Given the description of an element on the screen output the (x, y) to click on. 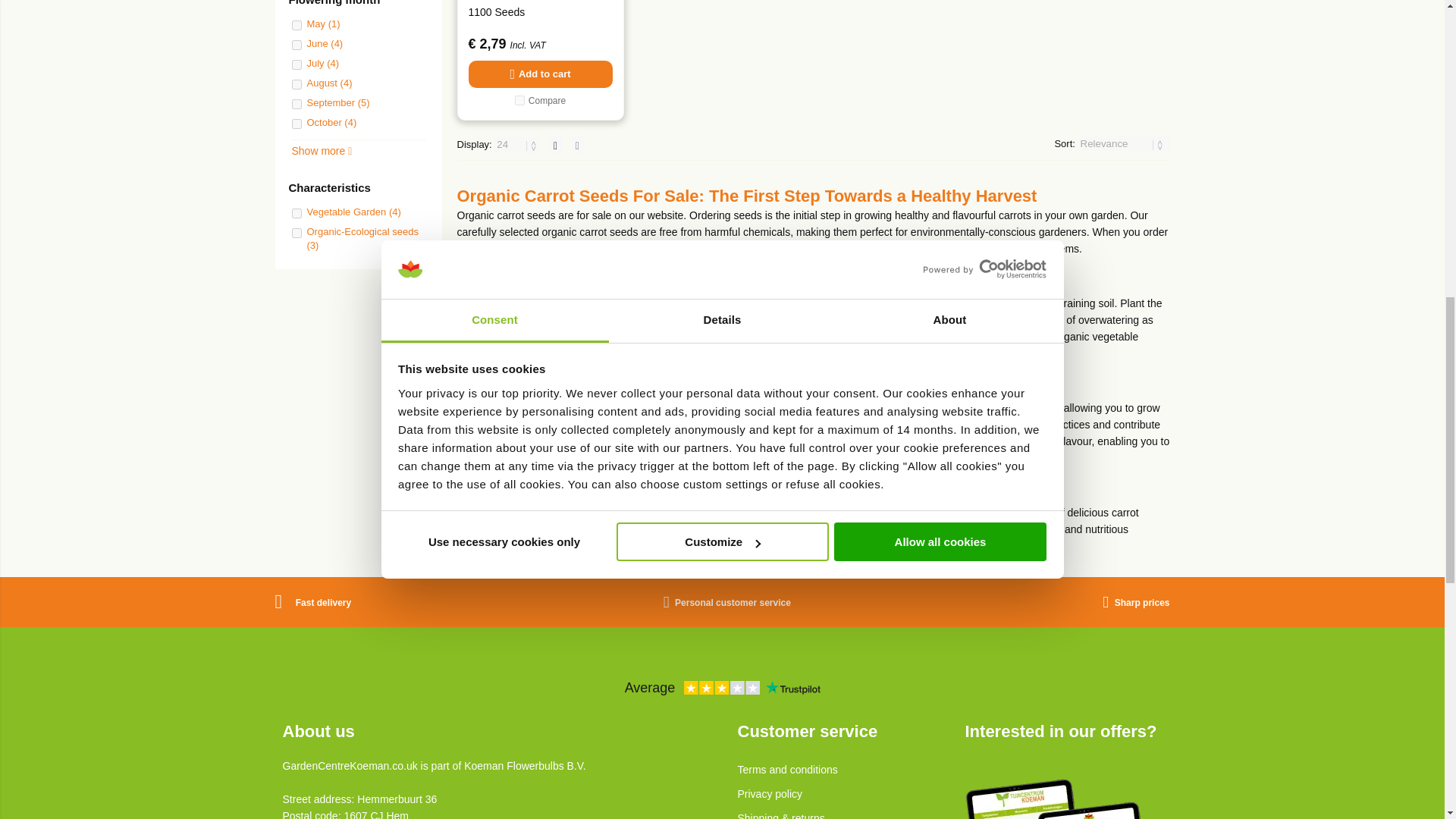
on (296, 84)
on (296, 25)
on (296, 44)
on (296, 64)
